Given the description of an element on the screen output the (x, y) to click on. 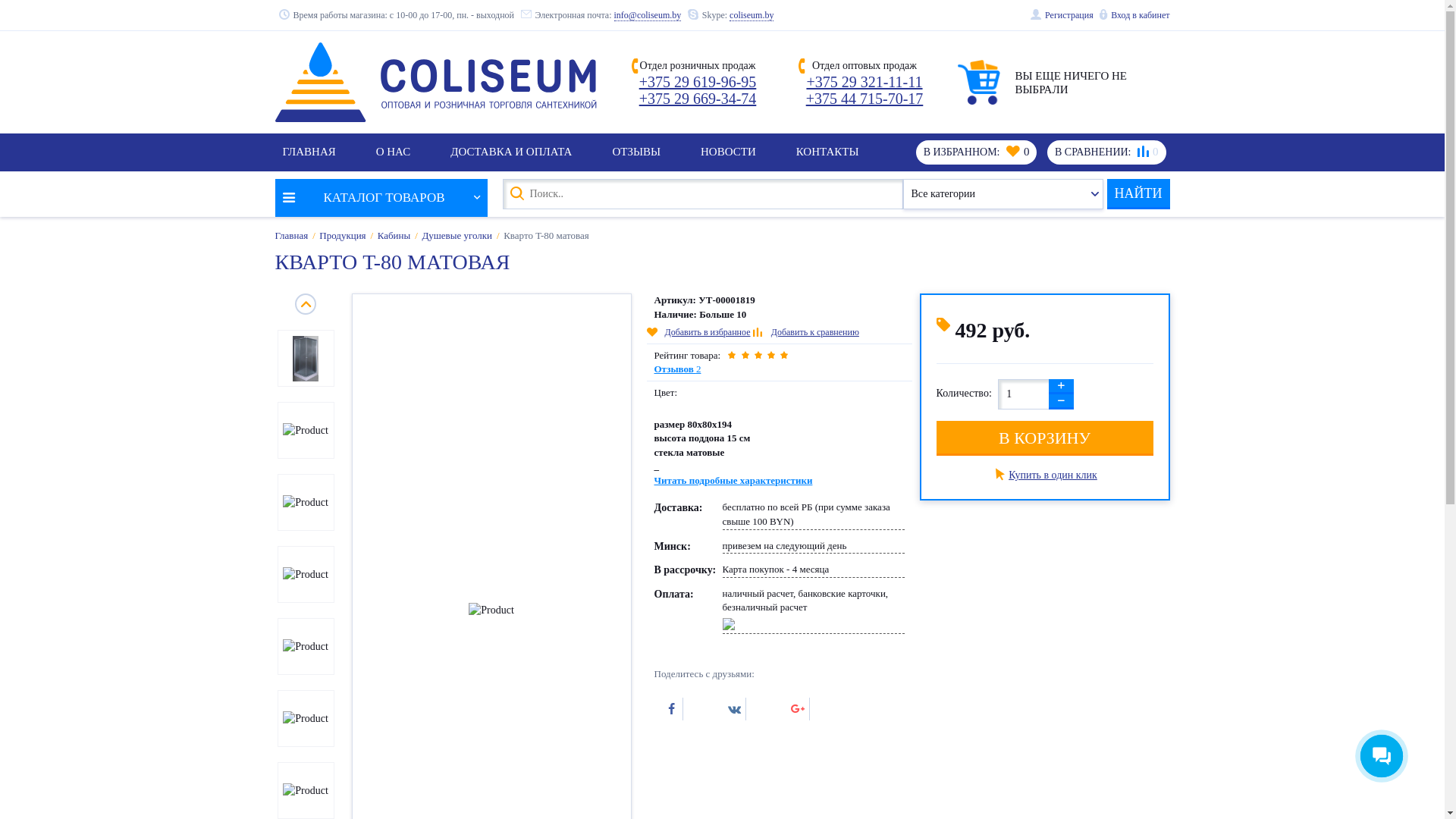
+375 29 619-96-95 Element type: text (697, 81)
+375 44 715-70-17 Element type: text (864, 98)
coliseum.by Element type: text (751, 15)
+375 29 321-11-11 Element type: text (864, 81)
info@coliseum.by Element type: text (647, 15)
+375 29 669-34-74 Element type: text (697, 98)
